Given the description of an element on the screen output the (x, y) to click on. 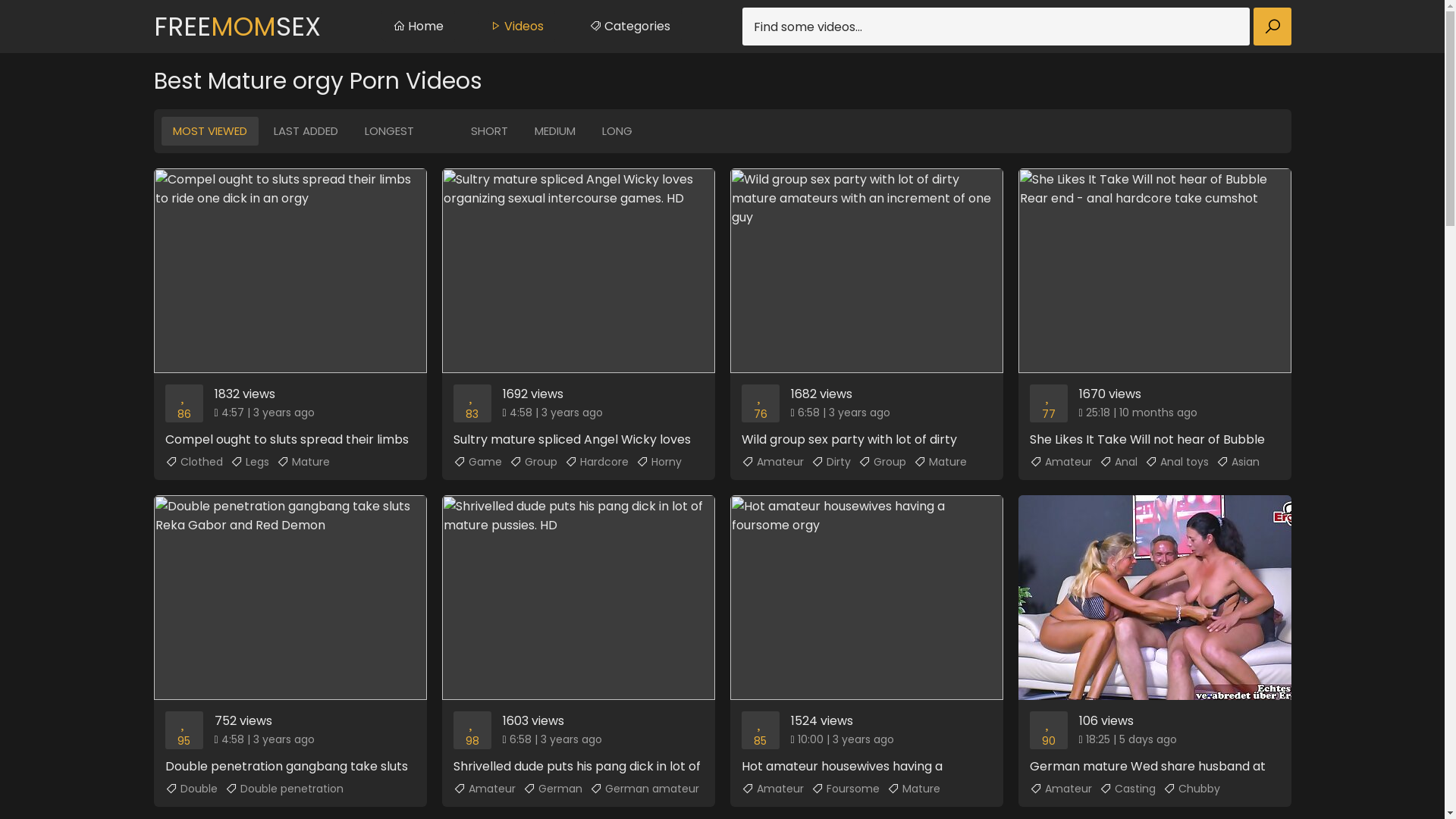
Chubby Element type: text (1191, 788)
Amateur Element type: text (1060, 788)
Clothed Element type: text (193, 461)
Asian Element type: text (1237, 461)
Amateur Element type: text (772, 788)
Foursome Element type: text (845, 788)
Anal Element type: text (1118, 461)
Group Element type: text (882, 461)
MOST VIEWED Element type: text (208, 130)
SHORT Element type: text (489, 130)
Hot amateur housewives having a foursome orgy Element type: text (865, 634)
Mature Element type: text (939, 461)
LONGEST Element type: text (389, 130)
LONG Element type: text (616, 130)
Mature Element type: text (913, 788)
Group Element type: text (533, 461)
Amateur Element type: text (484, 788)
Mature Element type: text (302, 461)
FREEMOMSEX Element type: text (236, 26)
Amateur Element type: text (772, 461)
German amateur Element type: text (644, 788)
German mature Wed share husband at 3some swinger orgy Element type: text (1153, 634)
Legs Element type: text (249, 461)
LAST ADDED Element type: text (305, 130)
Horny Element type: text (657, 461)
Home Element type: text (417, 26)
Find Element type: hover (1271, 26)
German Element type: text (552, 788)
Dirty Element type: text (830, 461)
Hardcore Element type: text (595, 461)
Game Element type: text (477, 461)
Videos Element type: text (516, 26)
Double penetration Element type: text (283, 788)
Double Element type: text (191, 788)
MEDIUM Element type: text (554, 130)
Casting Element type: text (1127, 788)
Categories Element type: text (629, 26)
Amateur Element type: text (1060, 461)
Search X Videos Element type: hover (1015, 26)
Anal toys Element type: text (1176, 461)
